Given the description of an element on the screen output the (x, y) to click on. 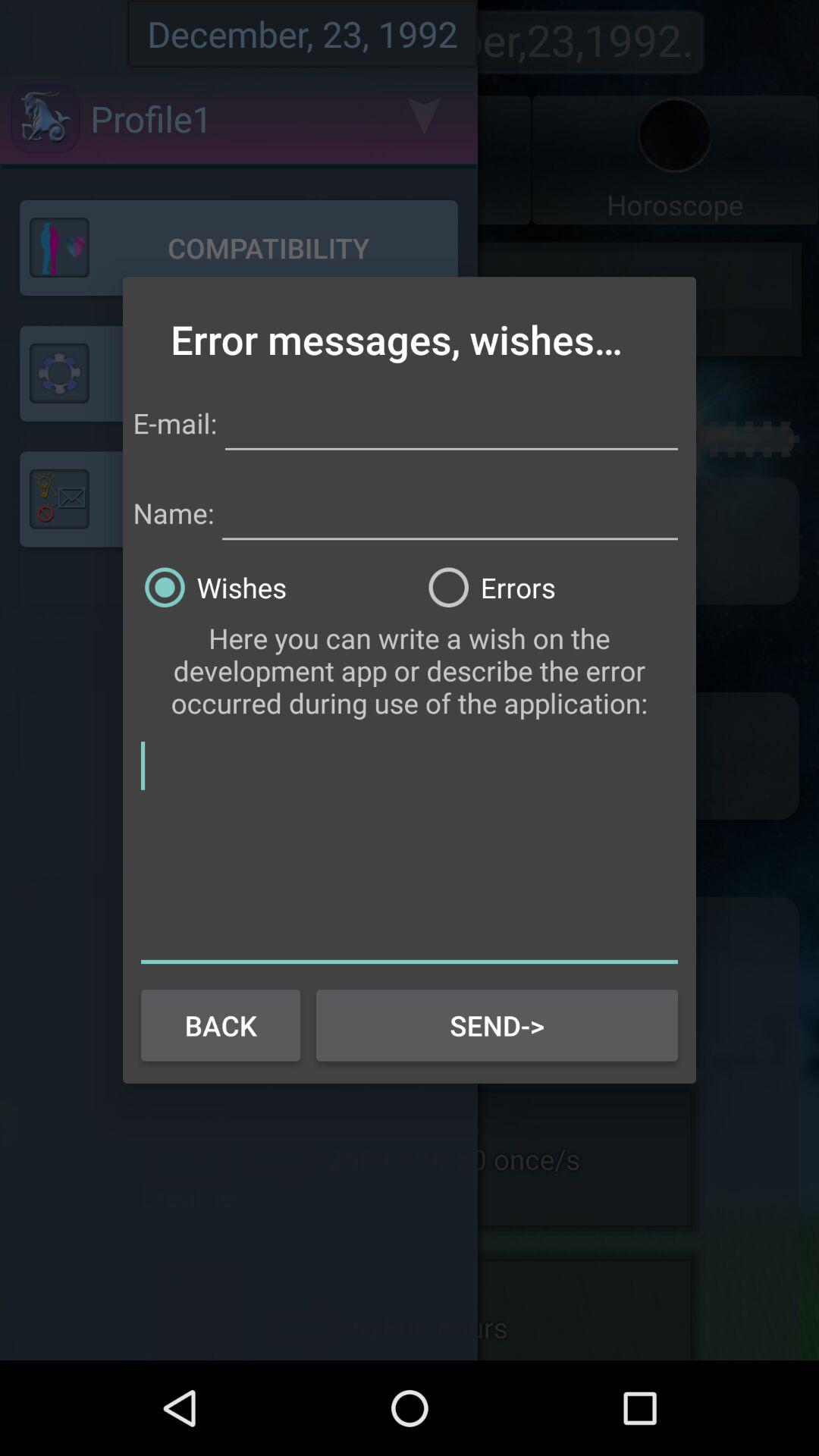
jump to the errors (550, 587)
